Given the description of an element on the screen output the (x, y) to click on. 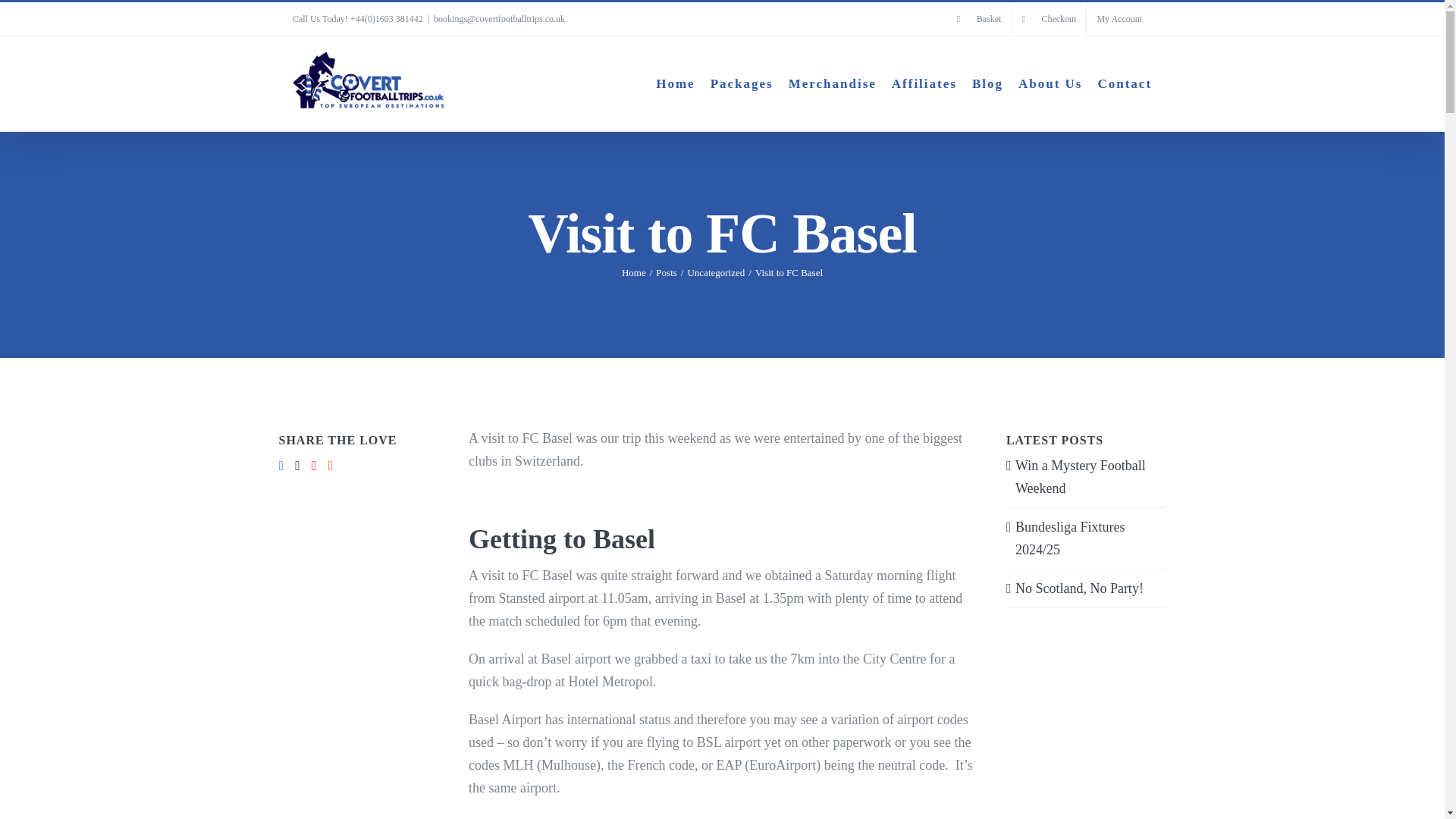
Packages (741, 83)
Log In (1173, 193)
About Us (1050, 83)
Affiliates (923, 83)
Checkout (1048, 19)
Basket (979, 19)
My Account (1118, 19)
Merchandise (832, 83)
